Given the description of an element on the screen output the (x, y) to click on. 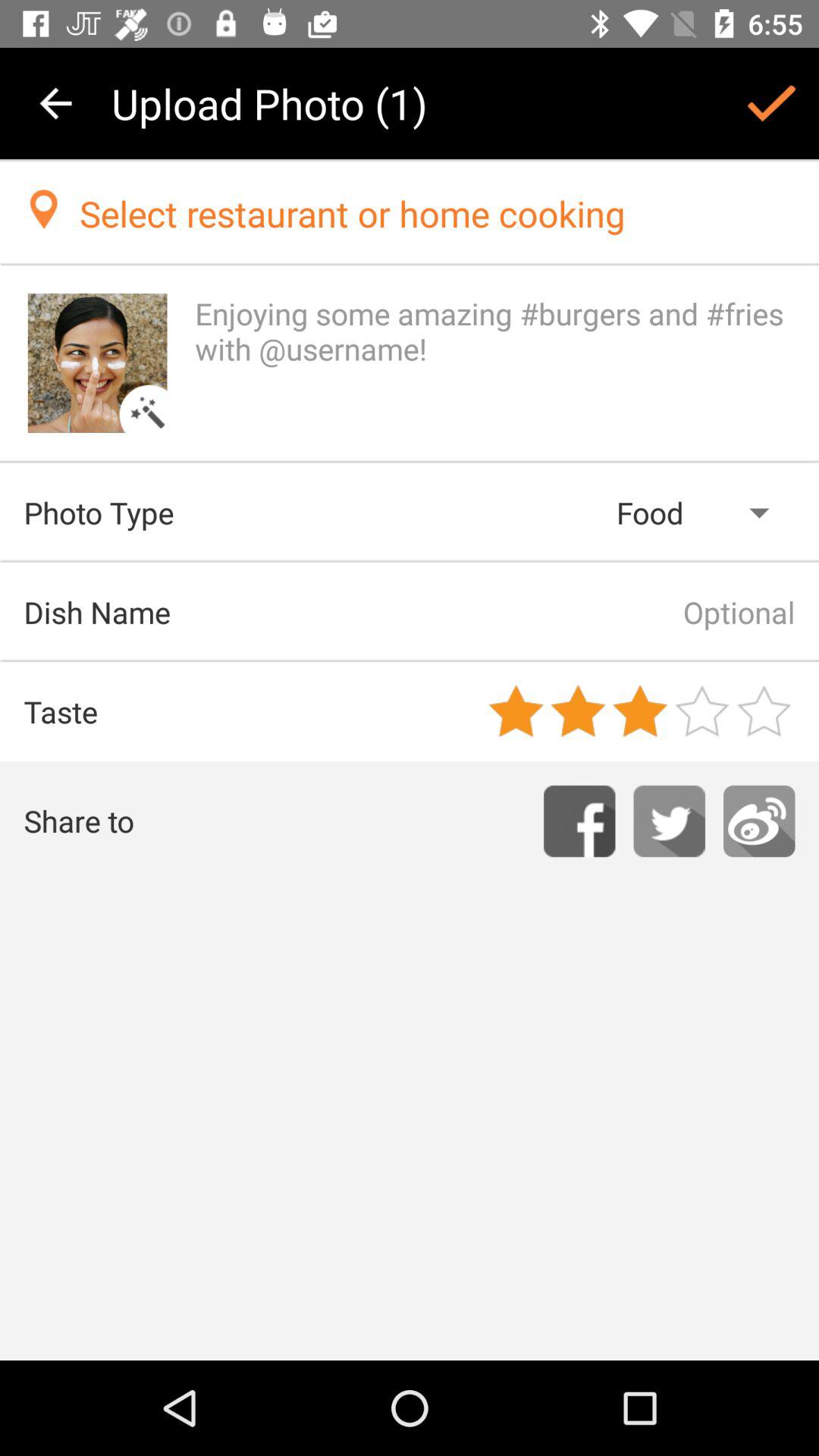
go to facebook (579, 821)
